Given the description of an element on the screen output the (x, y) to click on. 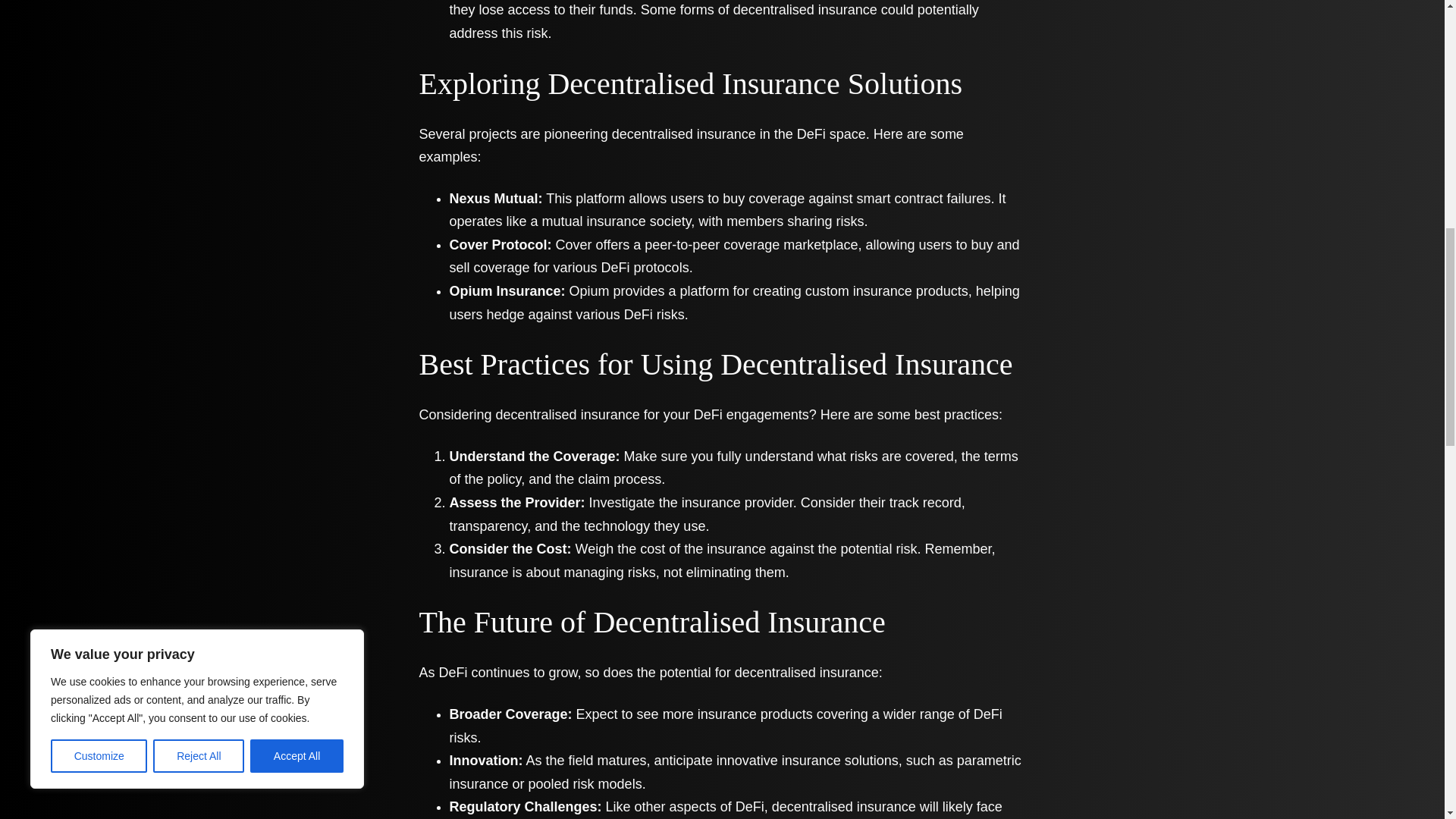
products (941, 290)
Innovation (483, 760)
best practices (956, 414)
transparency (487, 525)
